Given the description of an element on the screen output the (x, y) to click on. 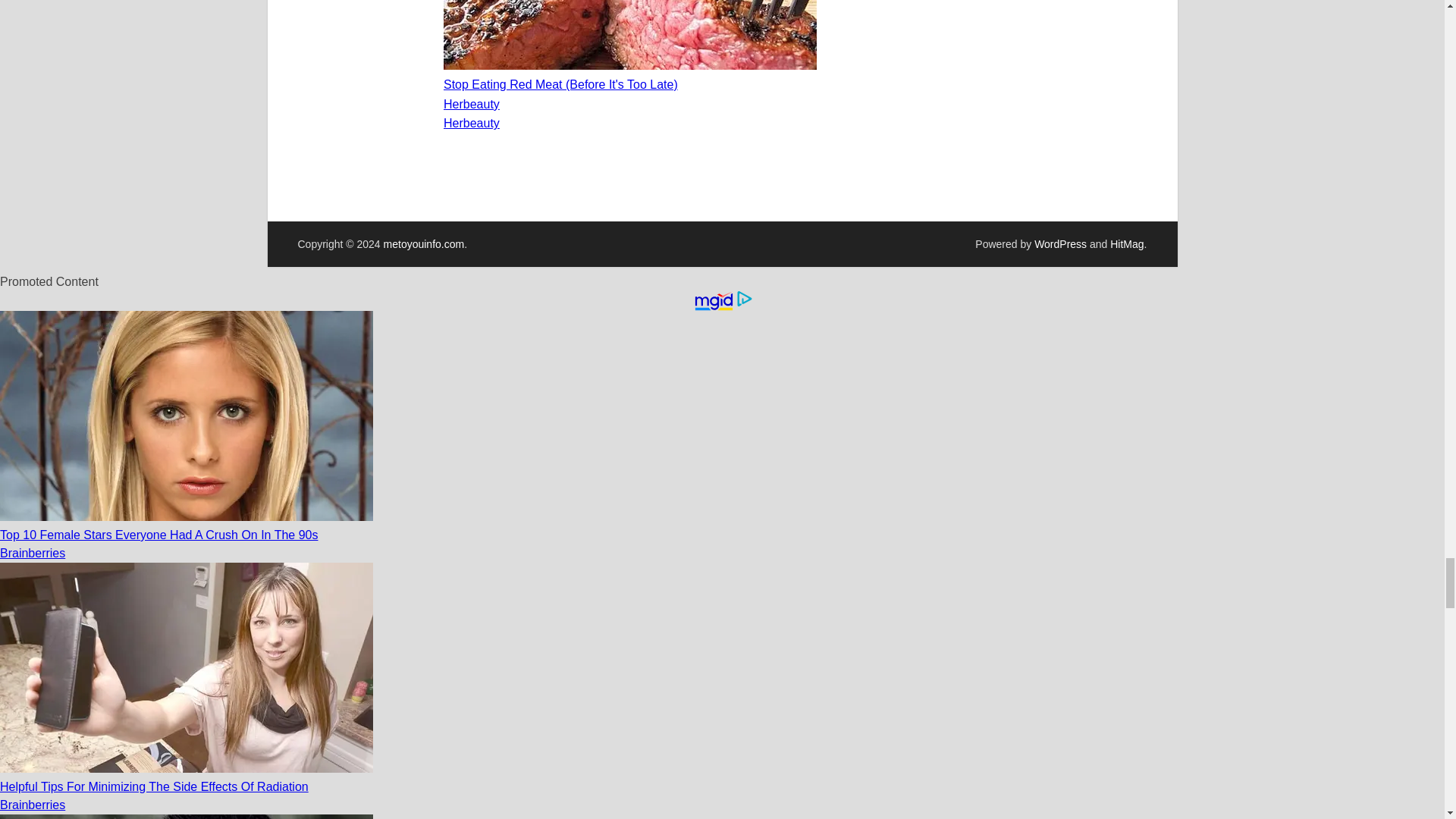
HitMag WordPress Theme (1125, 244)
metoyouinfo.com (424, 244)
WordPress (1059, 244)
WordPress (1059, 244)
metoyouinfo.com (424, 244)
HitMag (1125, 244)
